Given the description of an element on the screen output the (x, y) to click on. 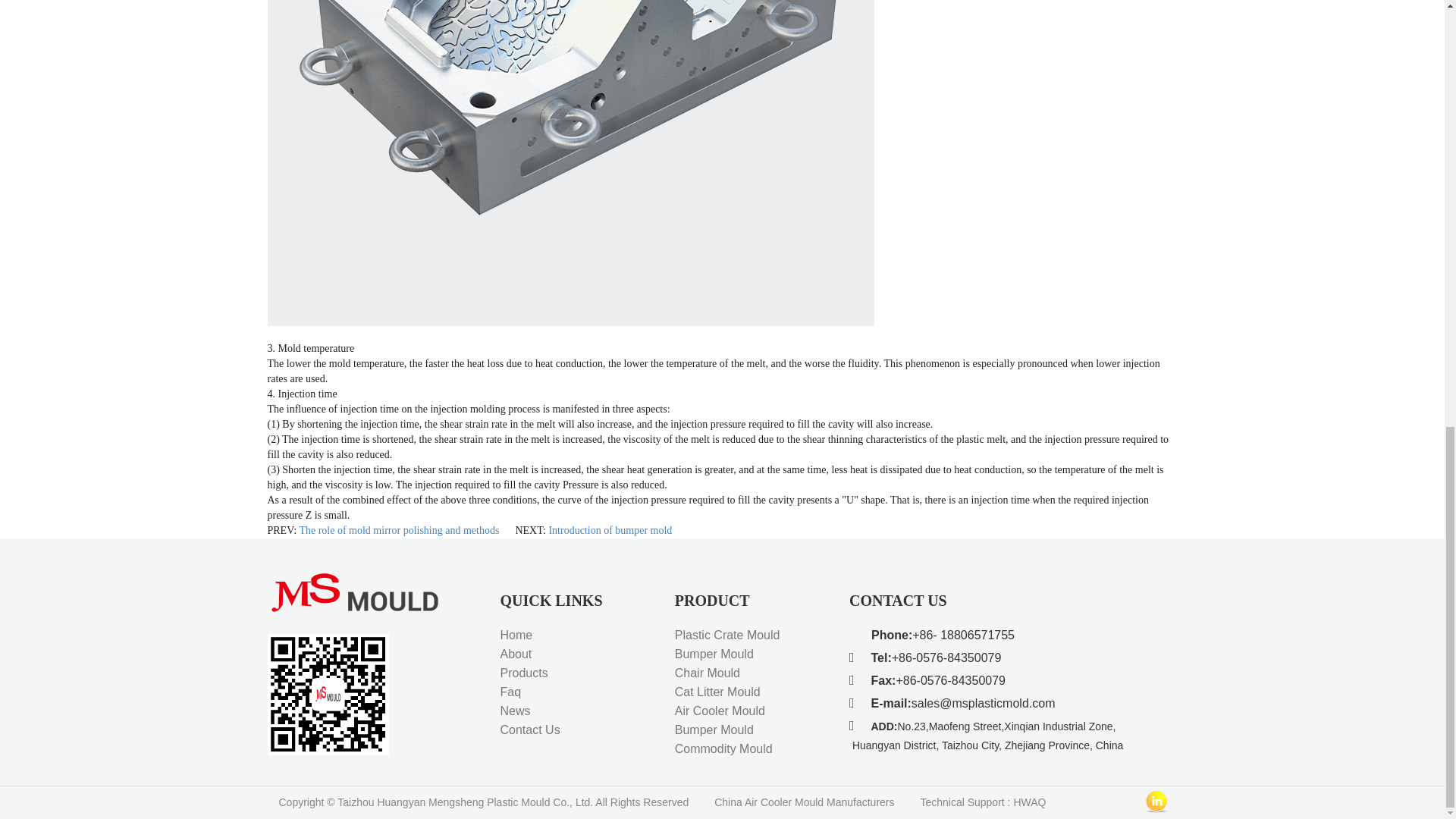
Plastic Crate Mould (727, 634)
The role of mold mirror polishing and methods (398, 530)
Chair Mould (707, 672)
Cat Litter Mould (717, 691)
About (516, 653)
Bumper Mould (714, 653)
Products (524, 672)
Home (516, 634)
Faq (510, 691)
News (515, 710)
Contact Us (530, 729)
Introduction of bumper mold (609, 530)
